Given the description of an element on the screen output the (x, y) to click on. 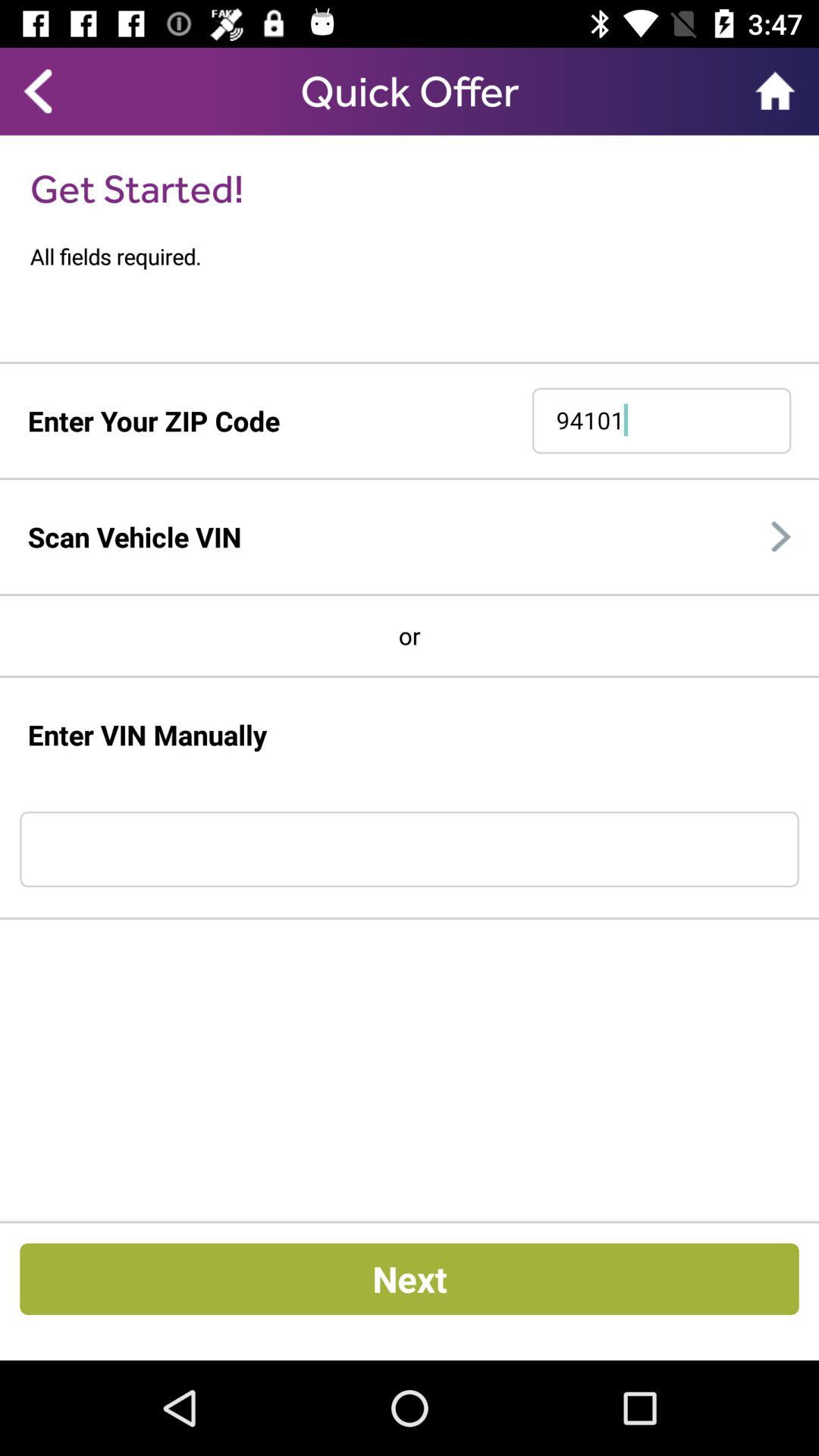
flip to enter your zip icon (153, 420)
